Given the description of an element on the screen output the (x, y) to click on. 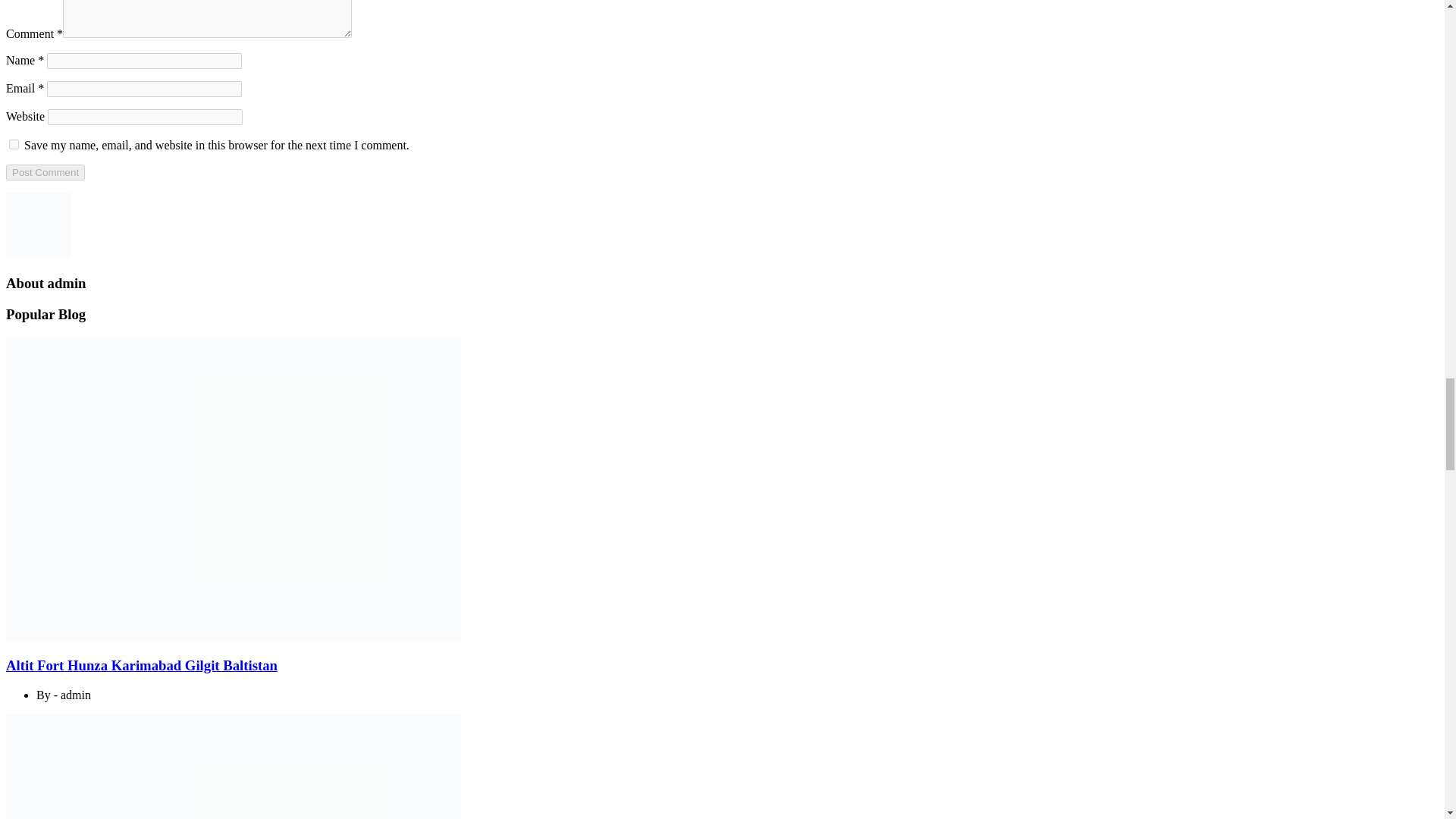
Altit Fort Hunza Karimabad Gilgit Baltistan (141, 665)
yes (13, 144)
Post Comment (44, 172)
Post Comment (44, 172)
